Given the description of an element on the screen output the (x, y) to click on. 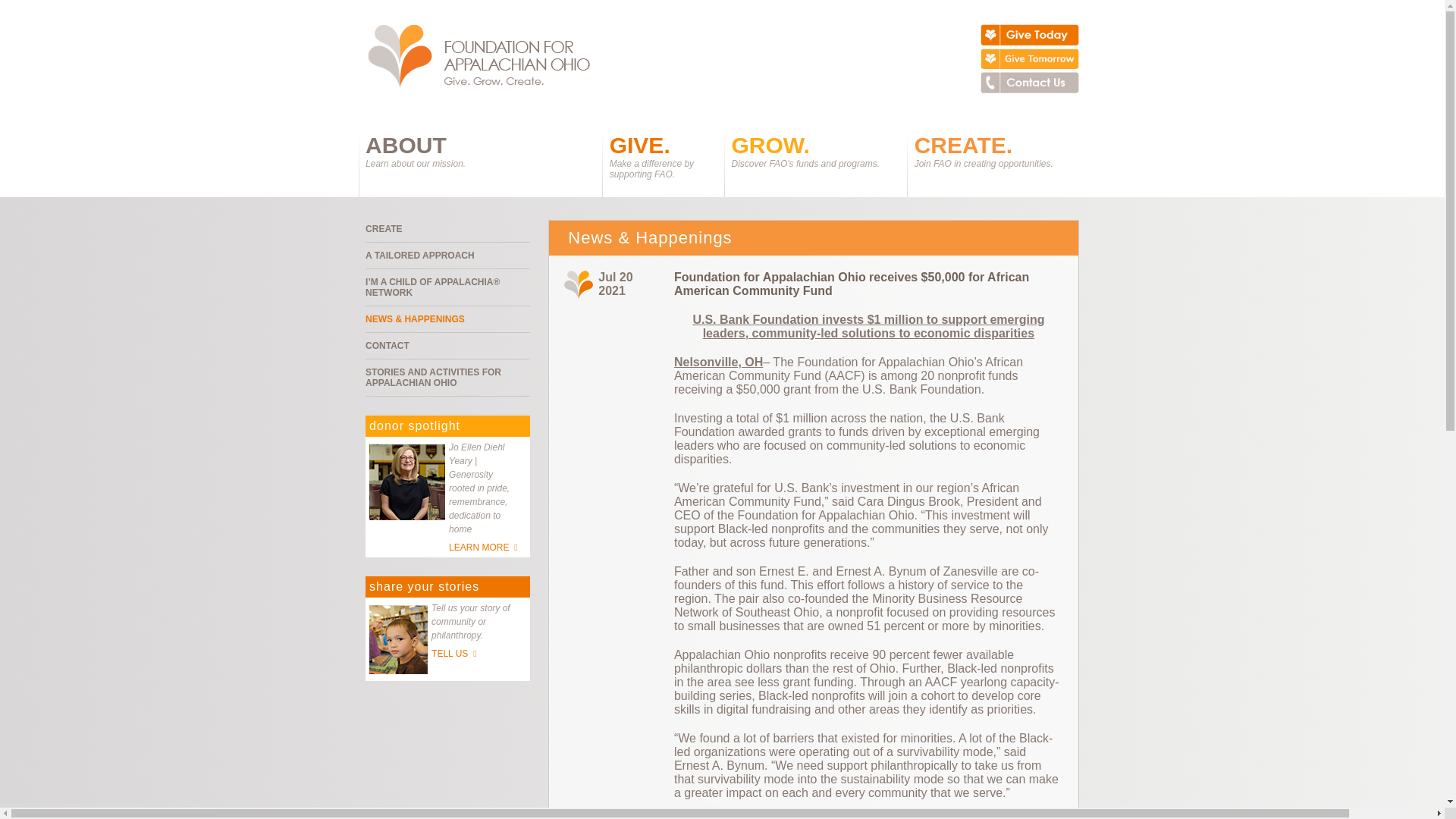
A TAILORED APPROACH (447, 255)
CONTACT (447, 345)
STORIES AND ACTIVITIES FOR APPALACHIAN OHIO (447, 377)
GROW. (769, 145)
TELL US (454, 653)
CREATE. (962, 145)
ABOUT (405, 145)
CREATE (447, 229)
GIVE. (639, 145)
LEARN MORE (483, 547)
